Given the description of an element on the screen output the (x, y) to click on. 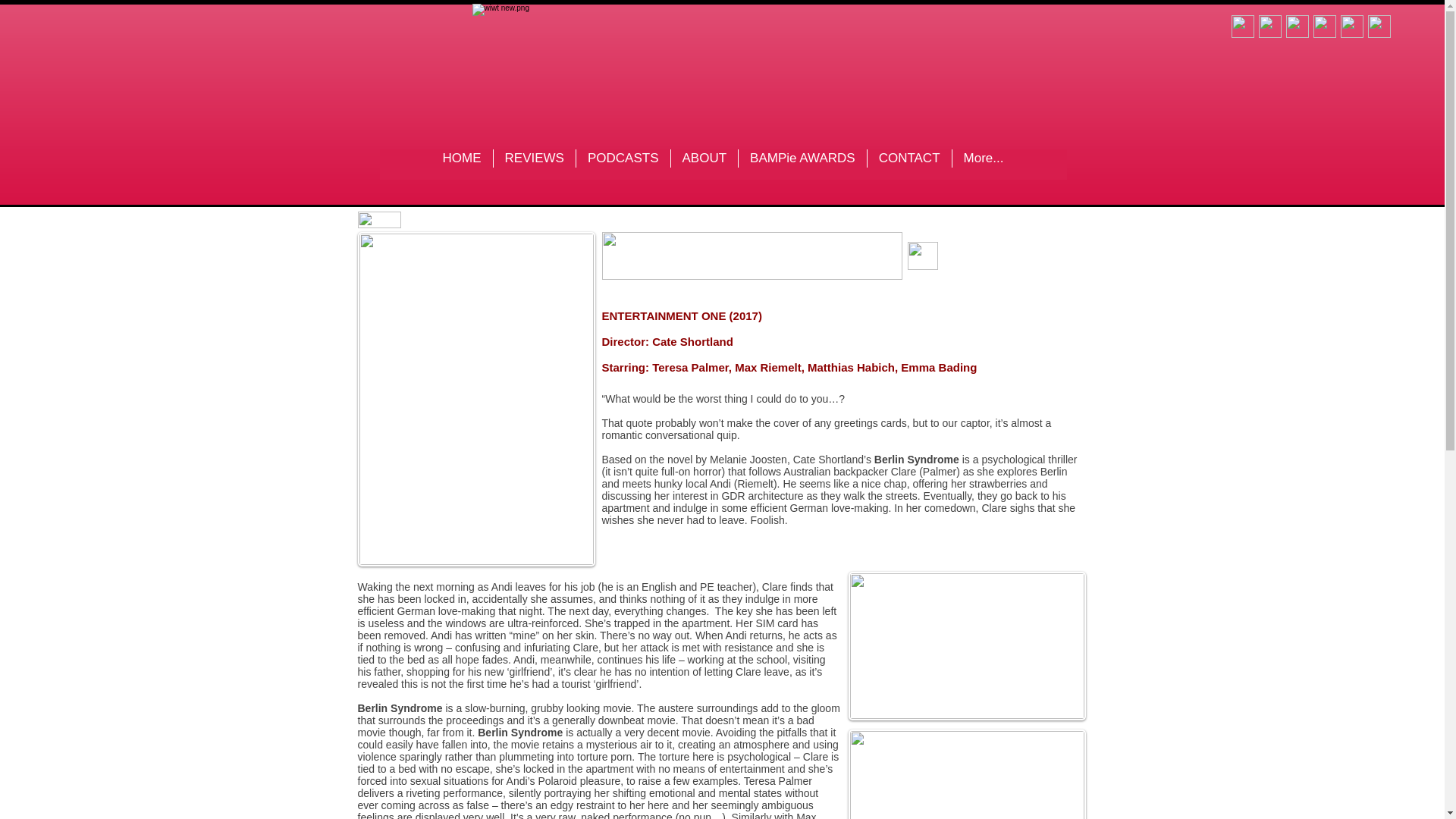
PODCASTS (622, 164)
REVIEWS (534, 164)
HOME (461, 164)
CONTACT (909, 164)
ABOUT (703, 164)
BAMPie AWARDS (802, 164)
